Given the description of an element on the screen output the (x, y) to click on. 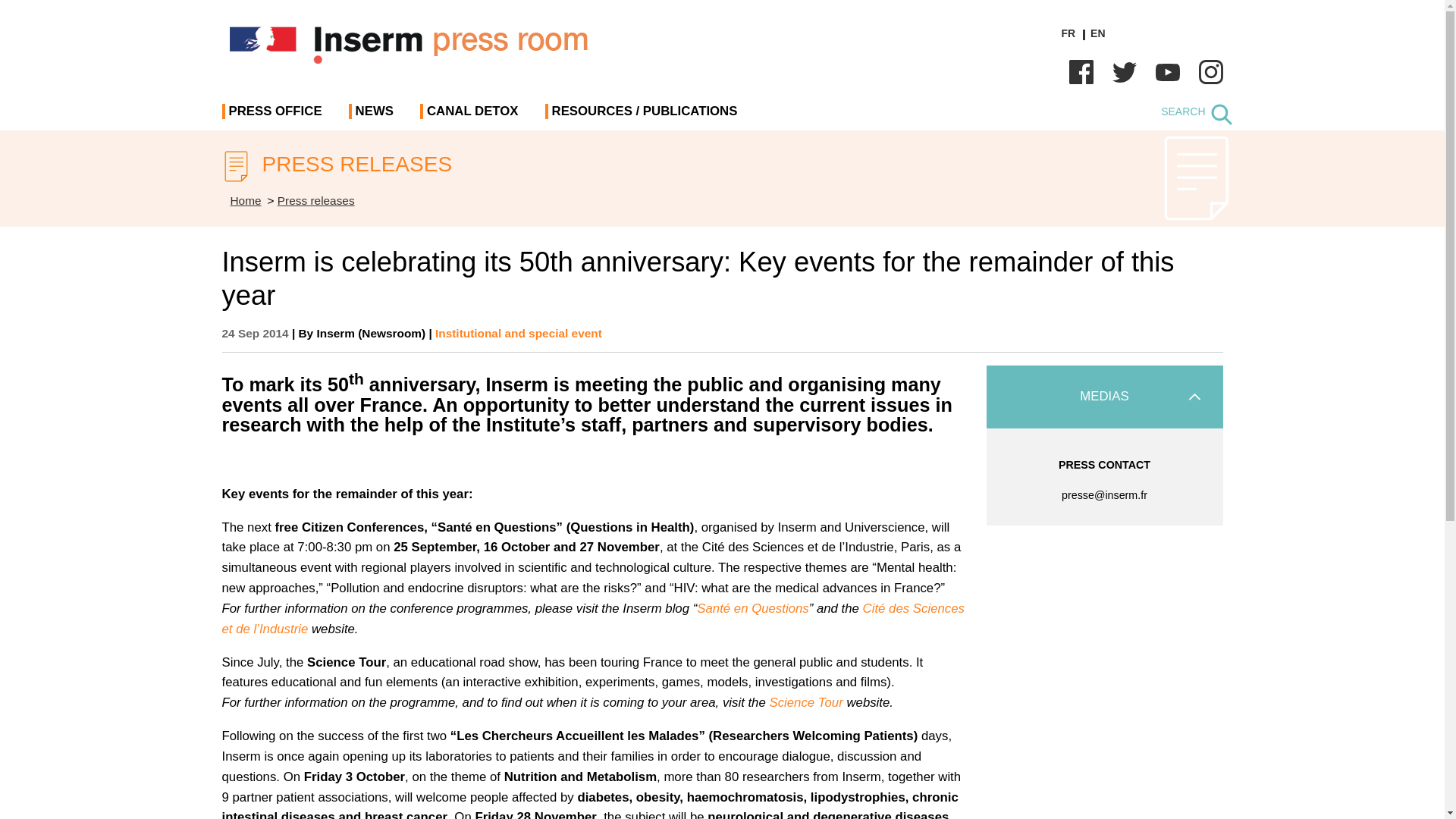
NEWS (374, 116)
Institutional and special event (518, 332)
Science Tour (805, 702)
Home (246, 200)
CANAL DETOX (472, 116)
Youtube (1167, 71)
Accueil - inserm (246, 200)
FR (1067, 33)
Instagram (1210, 71)
